Given the description of an element on the screen output the (x, y) to click on. 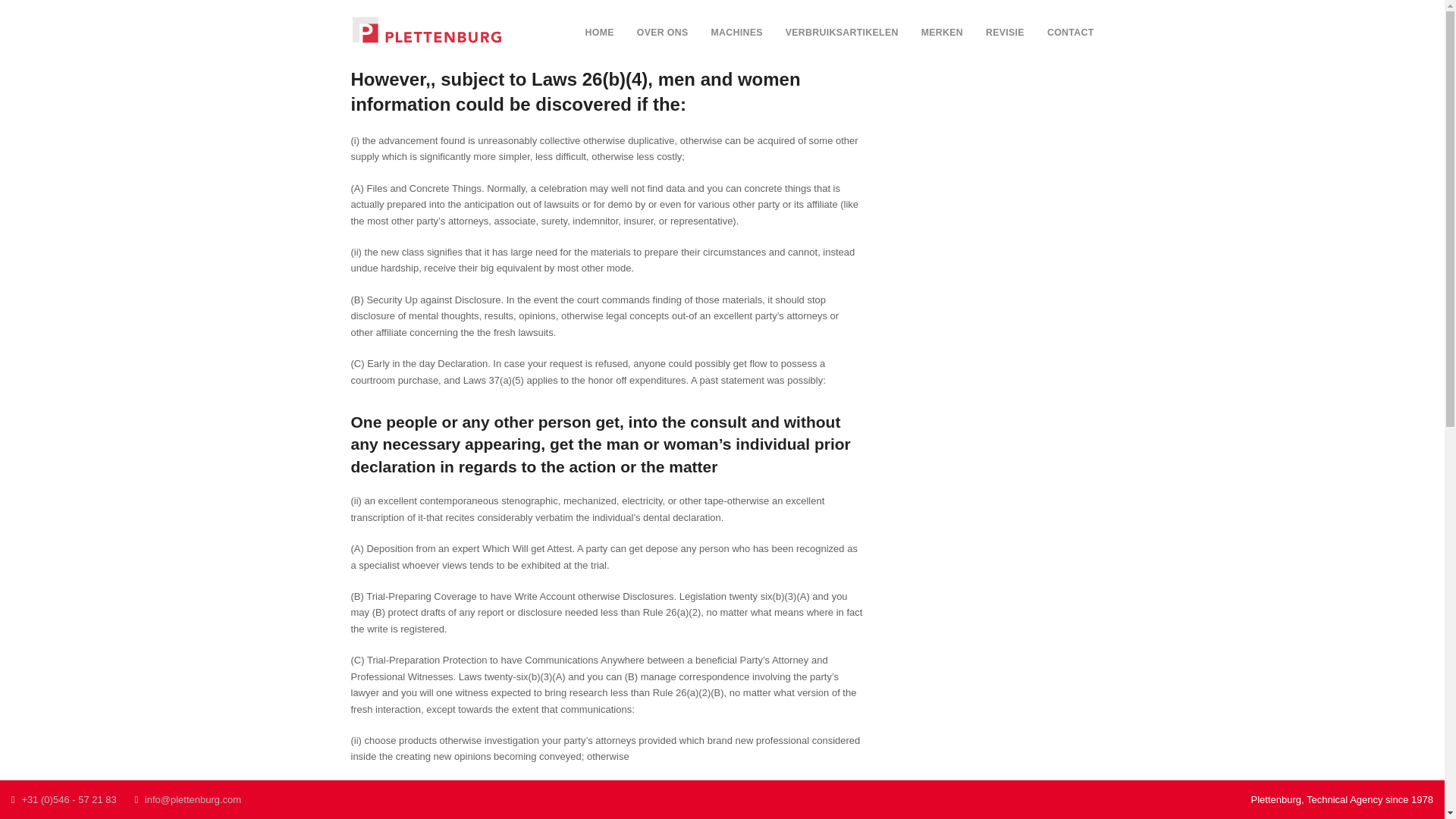
VERBRUIKSARTIKELEN (842, 33)
CONTACT (1070, 33)
MERKEN (942, 33)
MACHINES (735, 33)
REVISIE (1004, 33)
OVER ONS (663, 33)
